Given the description of an element on the screen output the (x, y) to click on. 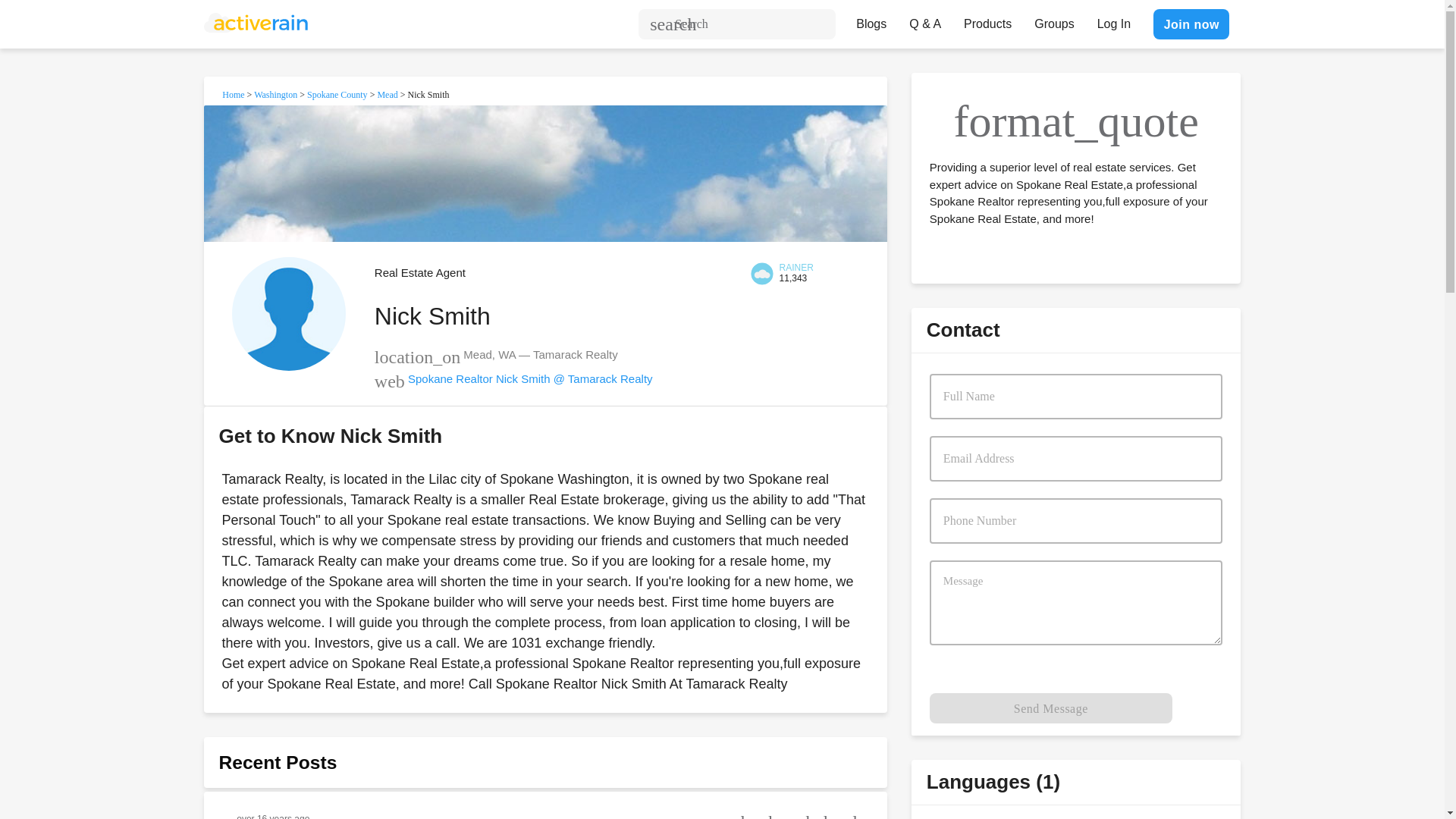
Recent Posts (277, 762)
Blogs (870, 19)
Spokane County (337, 94)
Mead (387, 94)
Groups (1053, 19)
Products (986, 19)
Home (233, 94)
Log In (1113, 19)
Send Message (1051, 707)
Join now (1190, 24)
